Given the description of an element on the screen output the (x, y) to click on. 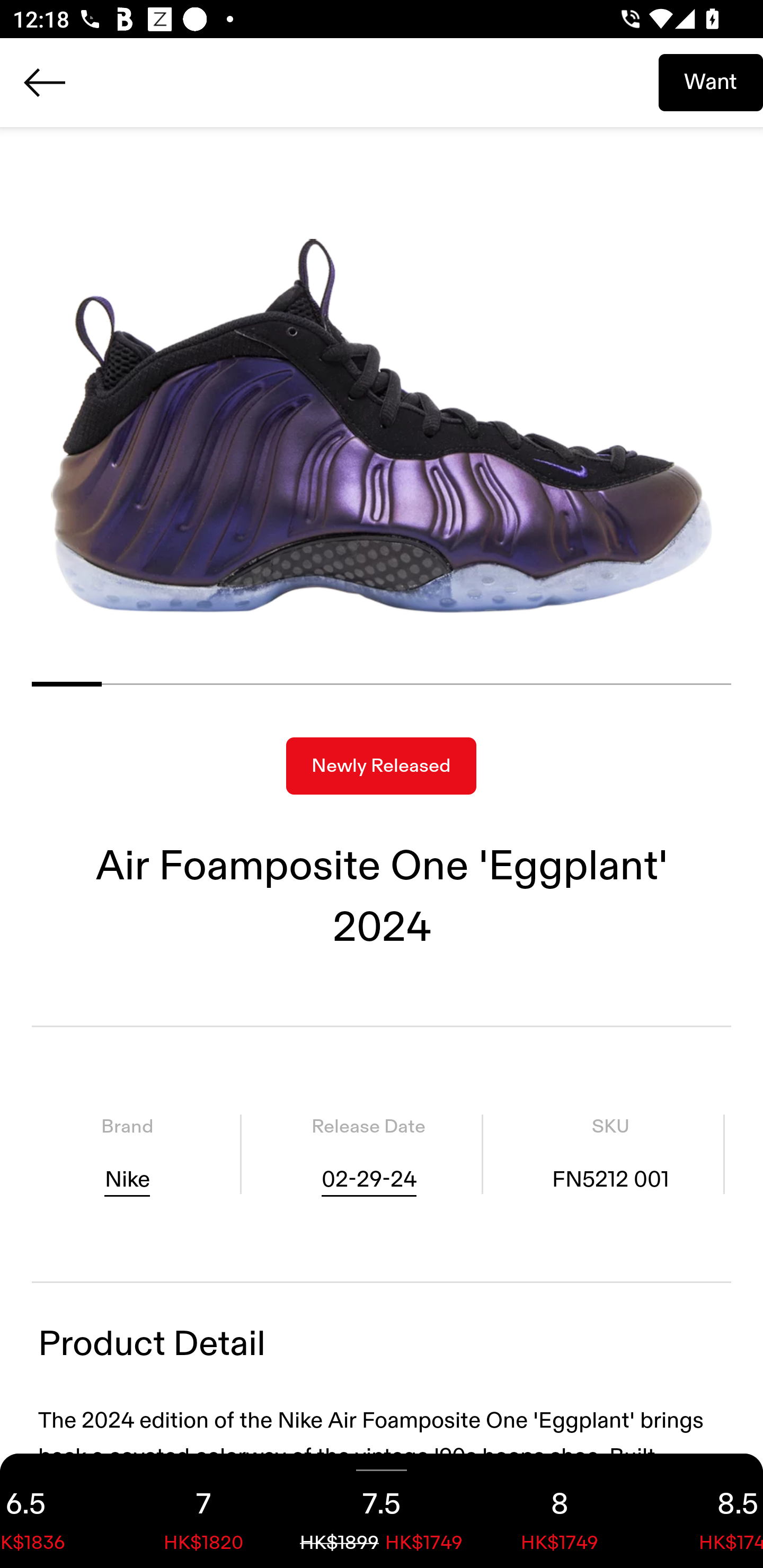
Want (710, 82)
Newly Released (381, 765)
Brand Nike (126, 1153)
Release Date 02-29-24 (368, 1153)
SKU FN5212 001 (609, 1153)
6.5 HK$1836 (57, 1510)
7 HK$1820 (203, 1510)
7.5 HK$1899 HK$1749 (381, 1510)
8 HK$1749 (559, 1510)
8.5 HK$1749 (705, 1510)
